Given the description of an element on the screen output the (x, y) to click on. 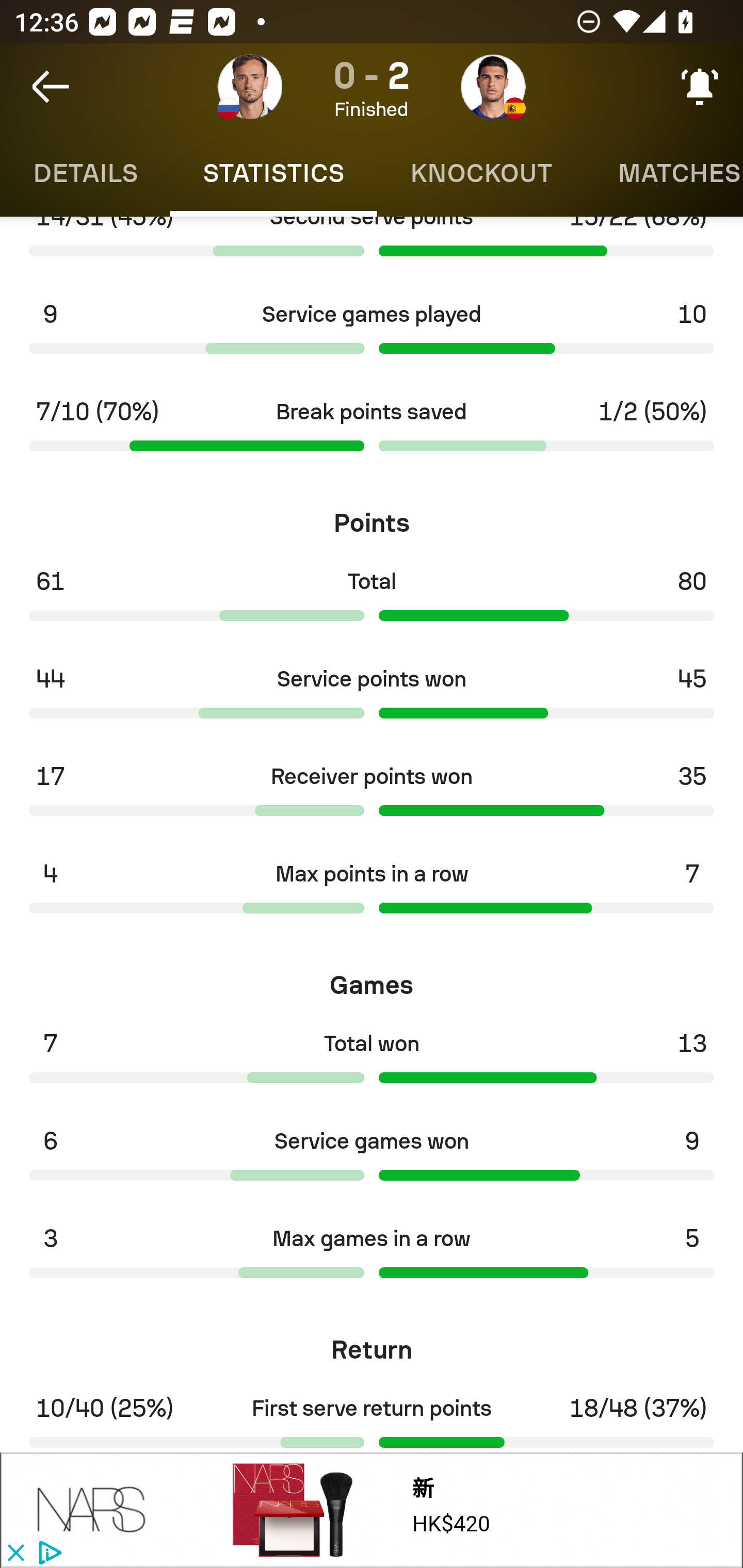
Navigate up (50, 86)
Details DETAILS (85, 173)
Knockout KNOCKOUT (480, 173)
Matches MATCHES (663, 173)
9 Service games played 10 473.0 526.0 (371, 333)
Points (371, 515)
61 Total 80 432.0 567.0 (371, 600)
44 Service points won 45 494.0 505.0 (371, 698)
17 Receiver points won 35 326.0 673.0 (371, 796)
4 Max points in a row 7 363.0 636.0 (371, 893)
Games (371, 978)
7 Total won 13 350.0 650.0 (371, 1062)
6 Service games won 9 400.0 600.0 (371, 1159)
3 Max games in a row 5 375.0 625.0 (371, 1257)
Return (371, 1343)
   (91, 1509)
 新年限量版LIGHT REFLECTIN… HK$420          新 HK$420 (460, 1511)
close_button (14, 1553)
privacy_small (47, 1553)
